Given the description of an element on the screen output the (x, y) to click on. 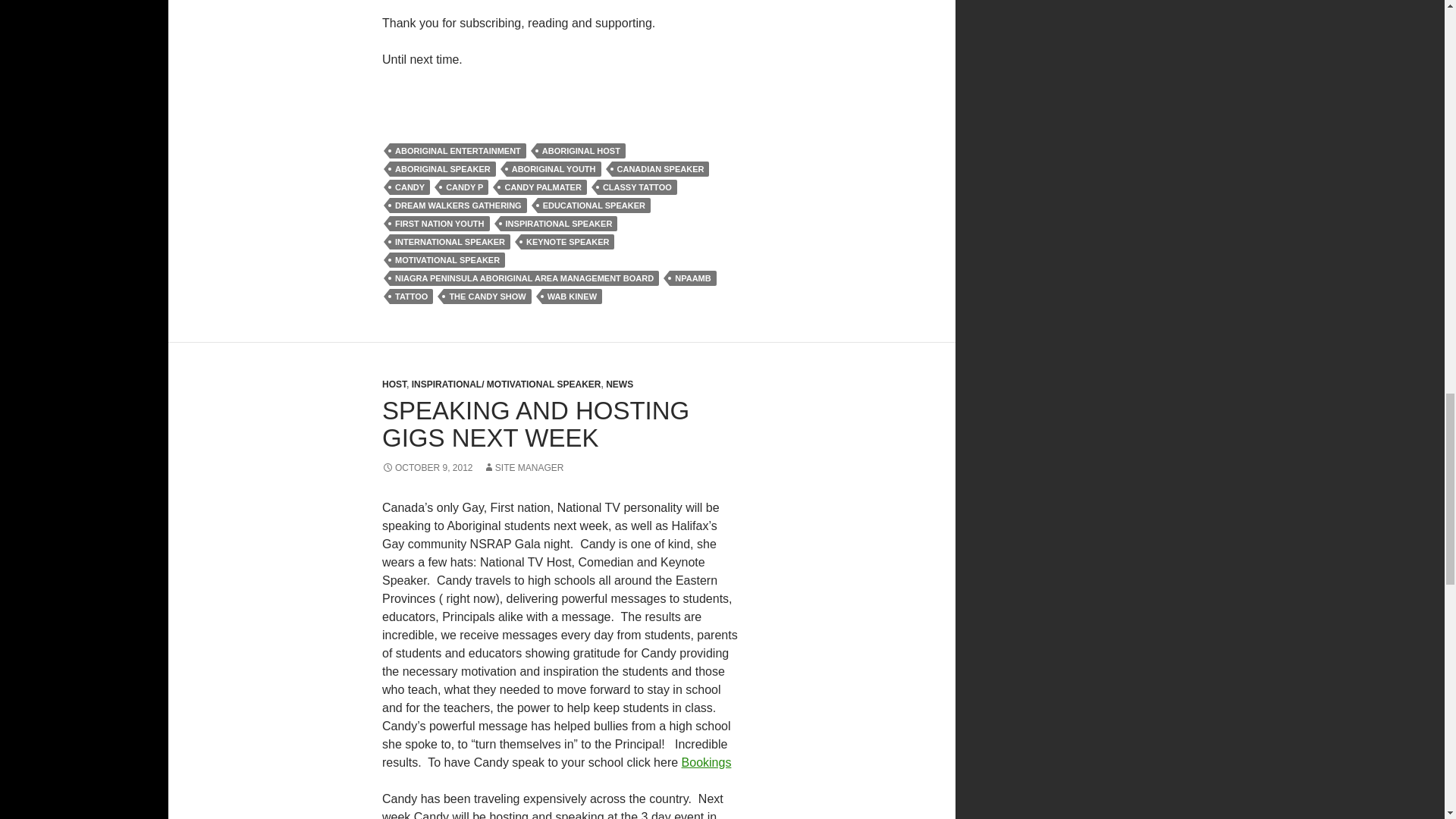
INSPIRATIONAL SPEAKER (558, 223)
INTERNATIONAL SPEAKER (450, 241)
ABORIGINAL SPEAKER (443, 168)
NIAGRA PENINSULA ABORIGINAL AREA MANAGEMENT BOARD (524, 278)
CLASSY TATTOO (636, 186)
CANADIAN SPEAKER (660, 168)
KEYNOTE SPEAKER (567, 241)
CANDY P (464, 186)
CANDY PALMATER (542, 186)
ABORIGINAL YOUTH (553, 168)
